Given the description of an element on the screen output the (x, y) to click on. 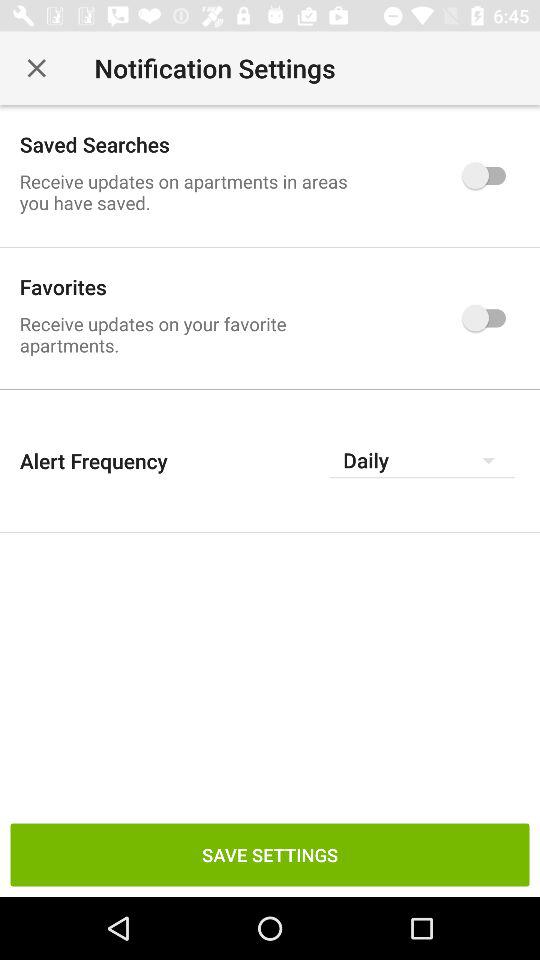
toggle saved searches (488, 175)
